Given the description of an element on the screen output the (x, y) to click on. 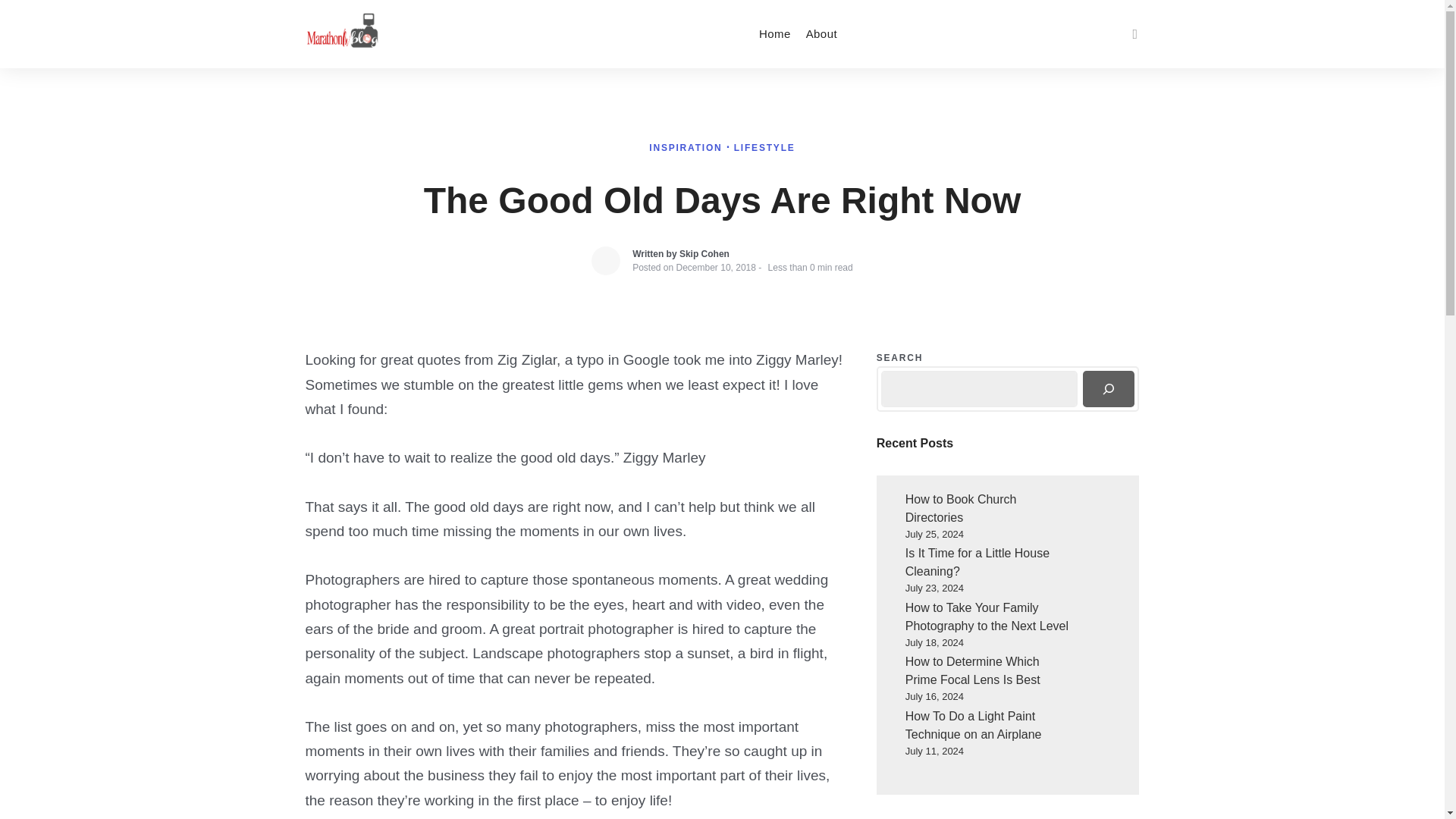
LIFESTYLE (763, 147)
December 10, 2018 (716, 267)
Home (774, 33)
Skip Cohen (704, 253)
INSPIRATION (687, 147)
About (820, 33)
About (820, 33)
Home (774, 33)
